Given the description of an element on the screen output the (x, y) to click on. 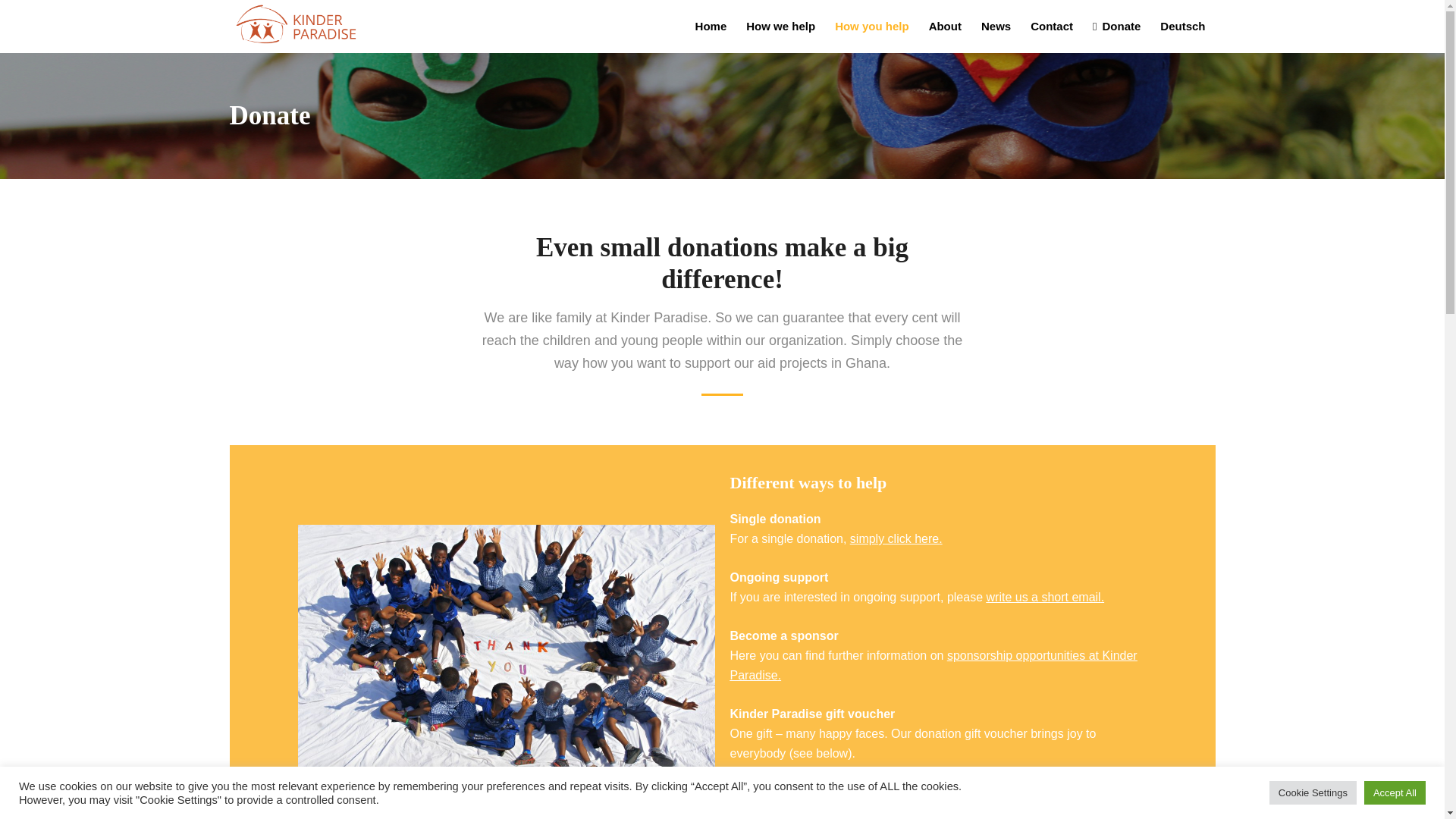
News (995, 26)
How you help (871, 26)
Home (710, 26)
Contact (1051, 26)
Deutsch (1182, 26)
Deutsch (1182, 26)
How we help (780, 26)
About (944, 26)
Donate (1116, 26)
